Given the description of an element on the screen output the (x, y) to click on. 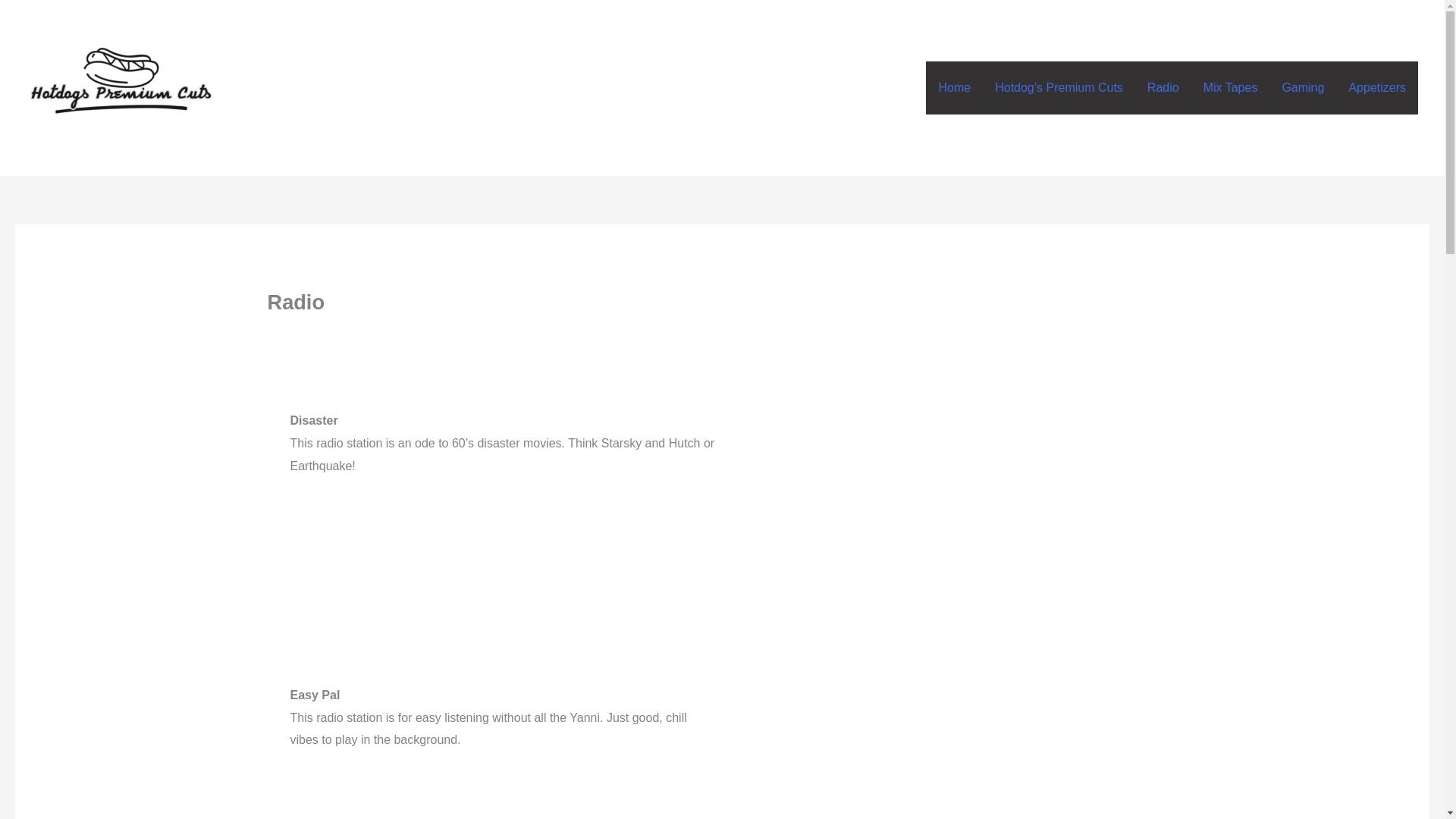
Radio (1163, 87)
Gaming (1302, 87)
Mix Tapes (1230, 87)
Spotify Embed: Easy Pal (941, 704)
Home (954, 87)
Spotify Embed: Disaster! (941, 449)
Appetizers (1377, 87)
